Given the description of an element on the screen output the (x, y) to click on. 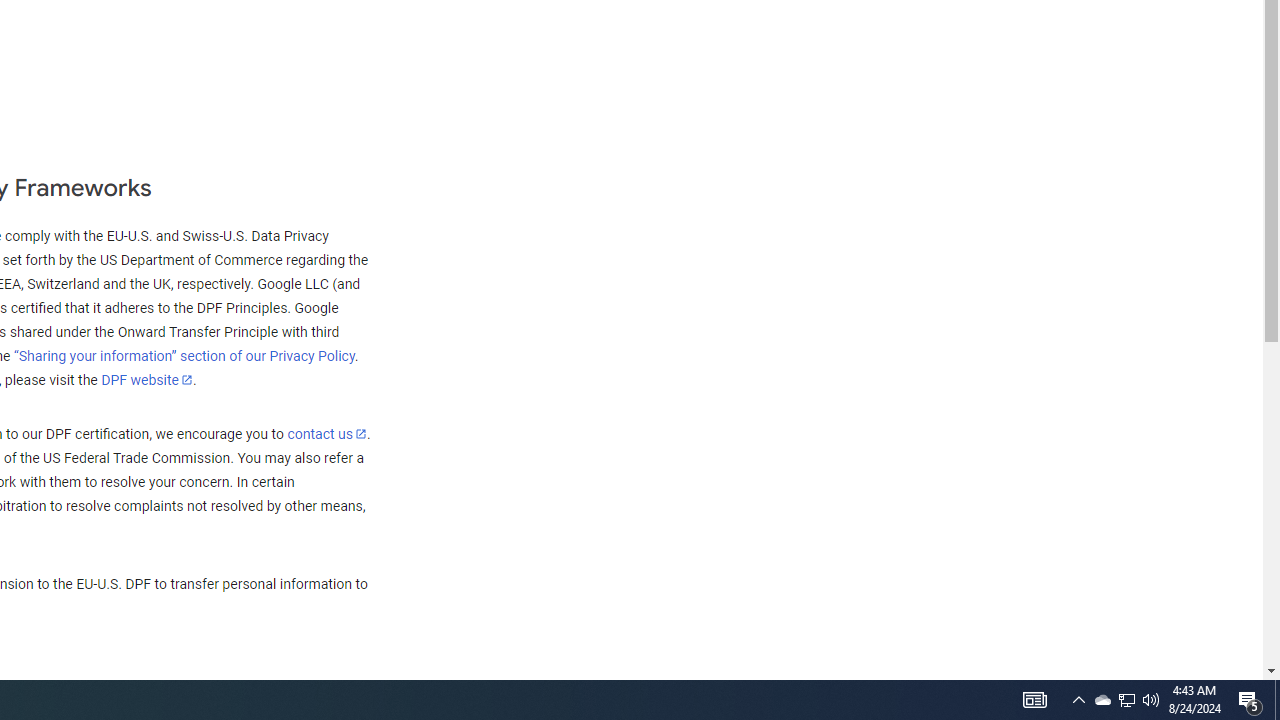
contact us (326, 433)
DPF website (147, 379)
